Given the description of an element on the screen output the (x, y) to click on. 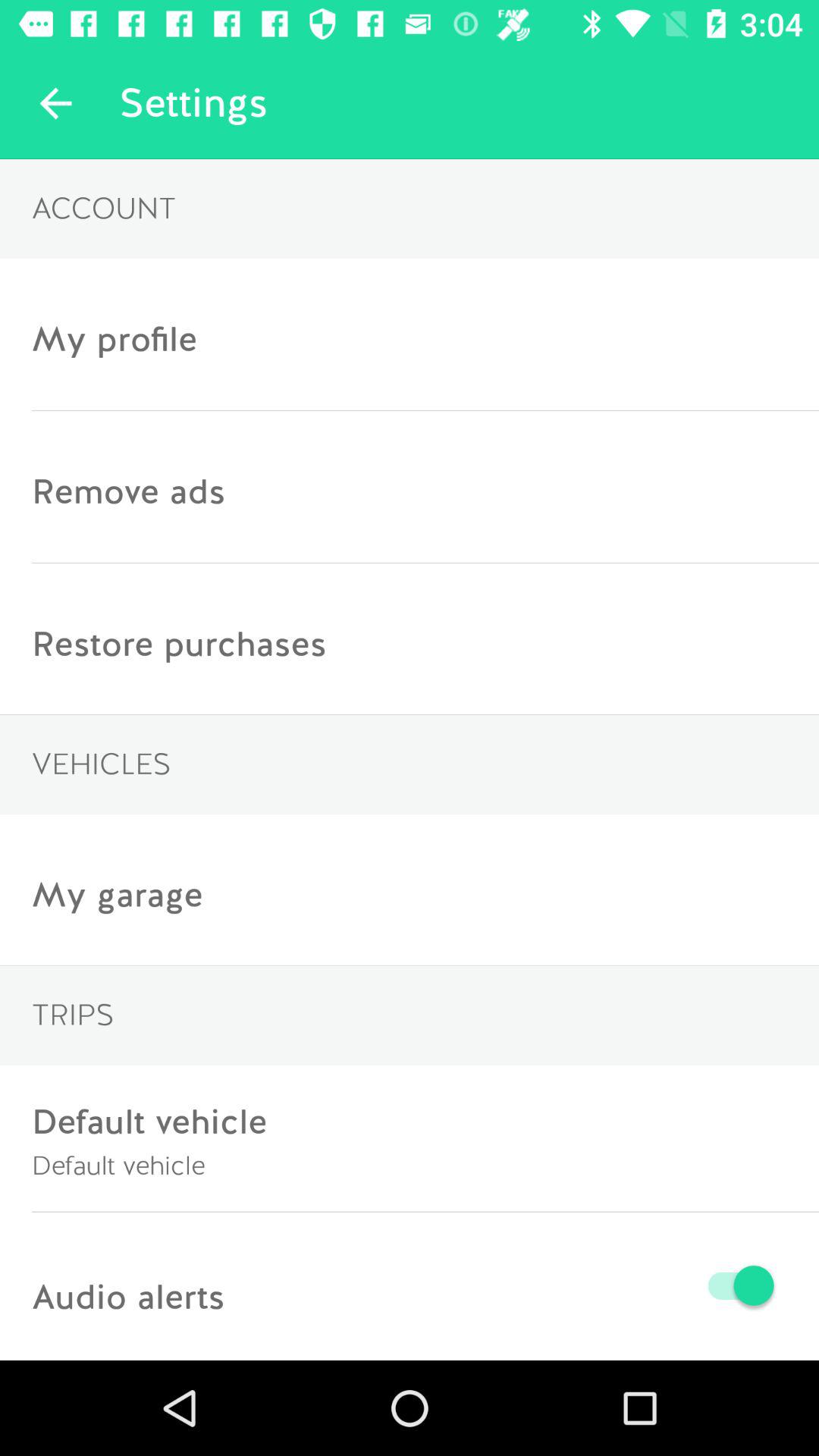
turn off the icon next to audio alerts item (502, 1285)
